Given the description of an element on the screen output the (x, y) to click on. 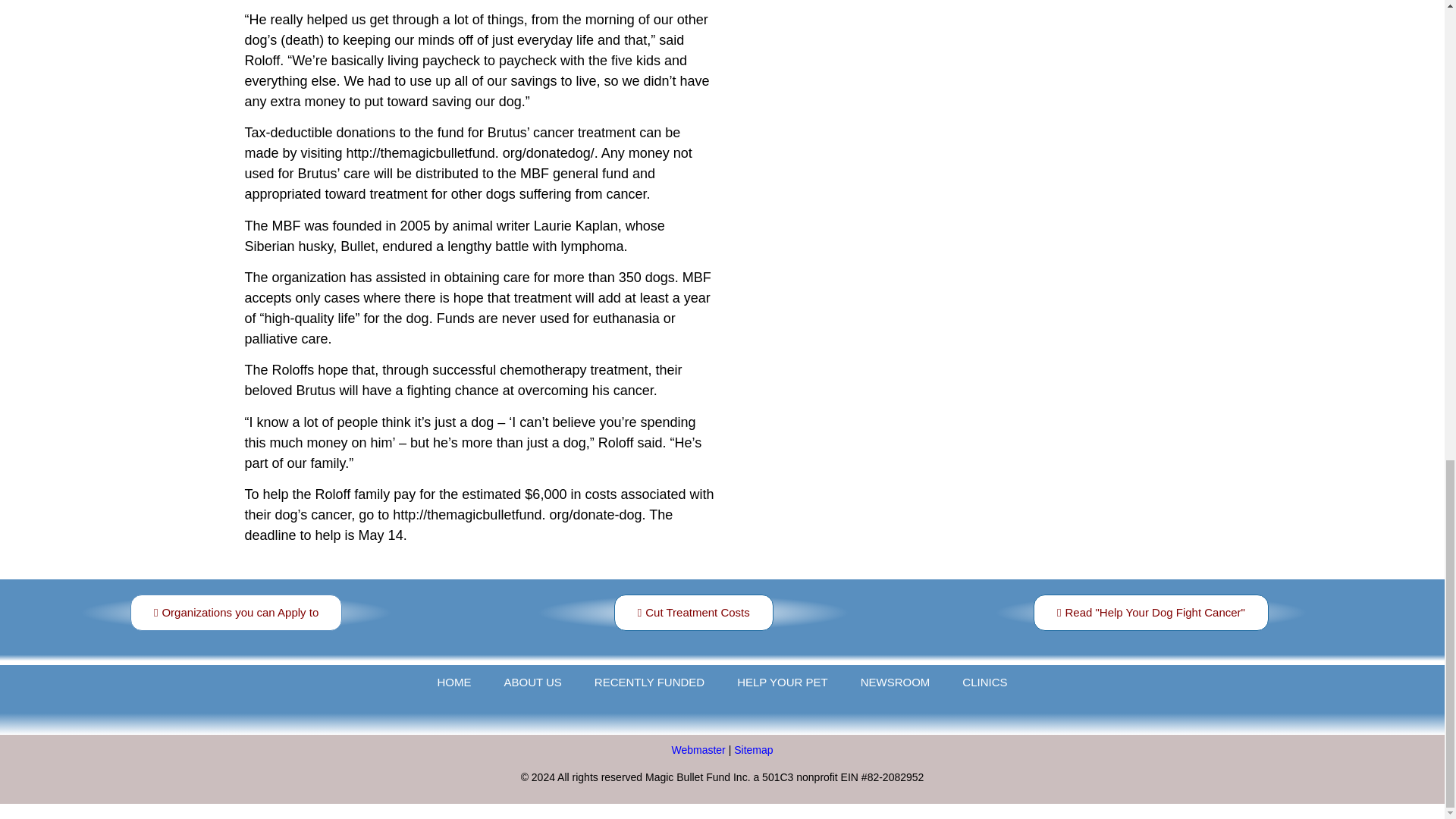
Learn how to cut costs of chemo and surgery. (1150, 612)
HELP YOUR PET (782, 682)
Learn how to cut costs of chemo and surgery. (692, 612)
Cut Treatment Costs (693, 612)
ABOUT US (532, 682)
HOME (454, 682)
RECENTLY FUNDED (648, 682)
Organizations you can Apply to (236, 612)
Read "Help Your Dog Fight Cancer" (1150, 612)
